Given the description of an element on the screen output the (x, y) to click on. 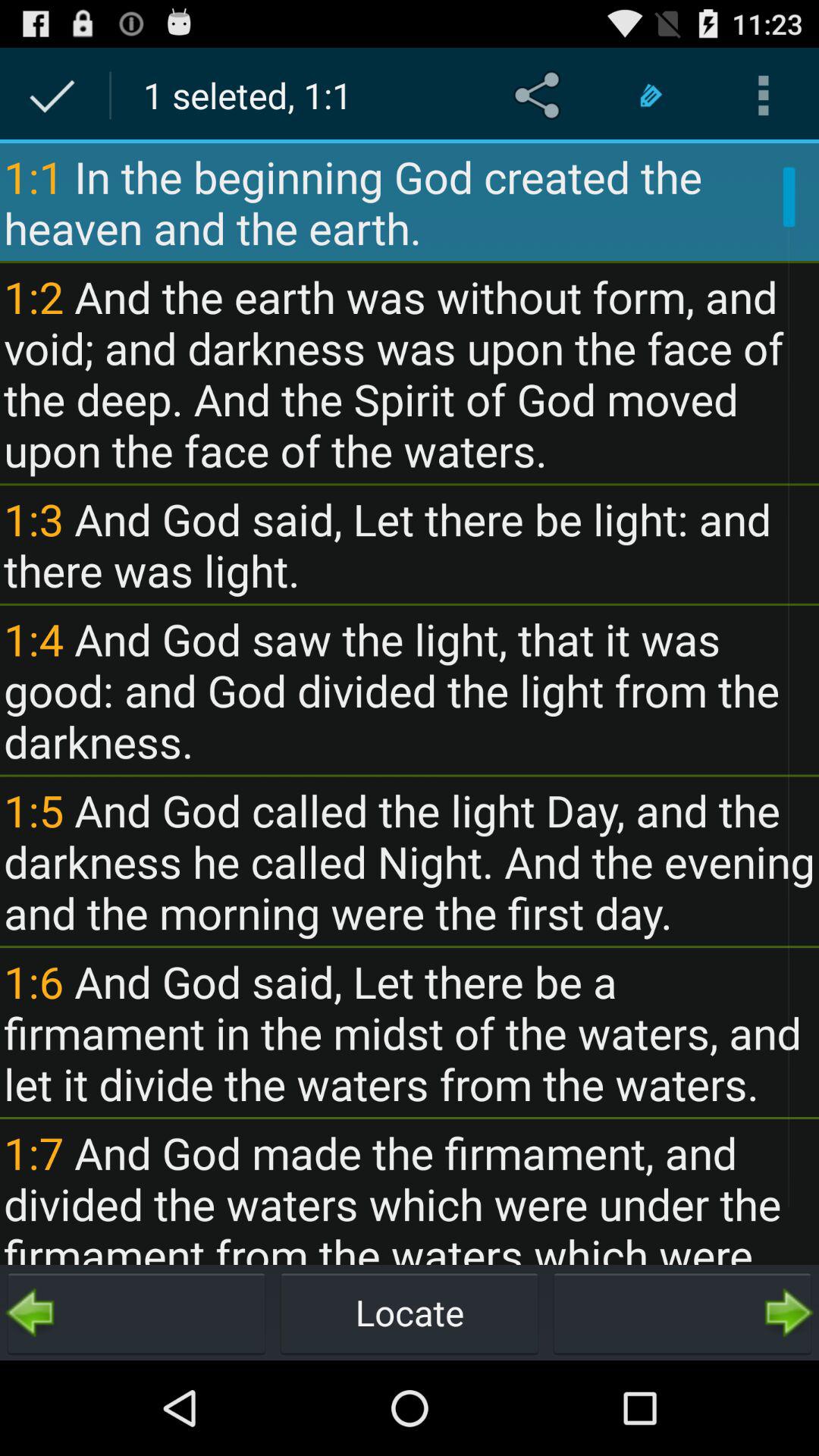
press the app above the 1 1 in icon (651, 95)
